Given the description of an element on the screen output the (x, y) to click on. 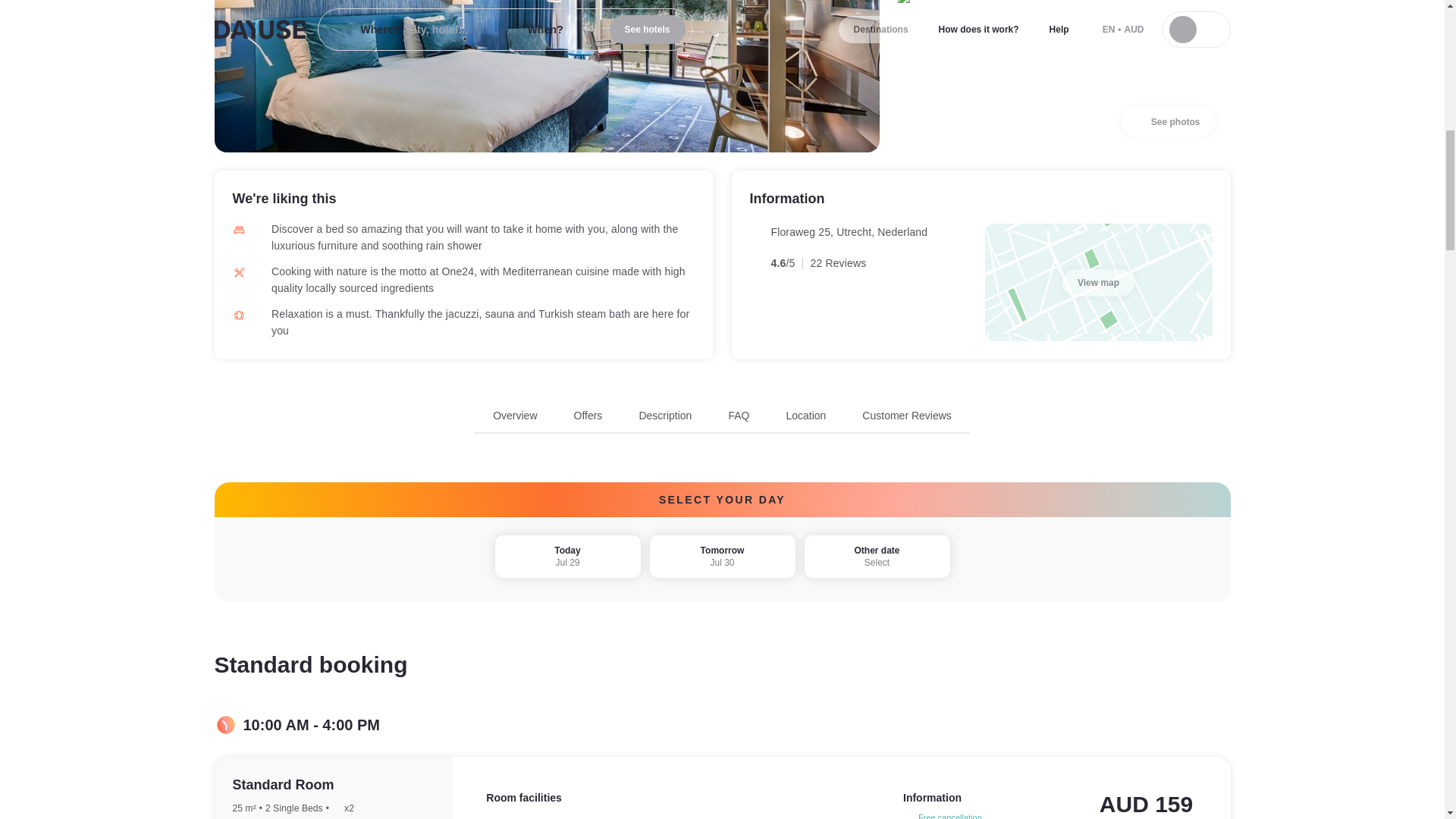
See photos (721, 420)
Location (1168, 122)
Offers (805, 415)
Overview (587, 415)
FAQ (515, 415)
Description (567, 556)
View map (738, 415)
Customer Reviews (665, 415)
